Given the description of an element on the screen output the (x, y) to click on. 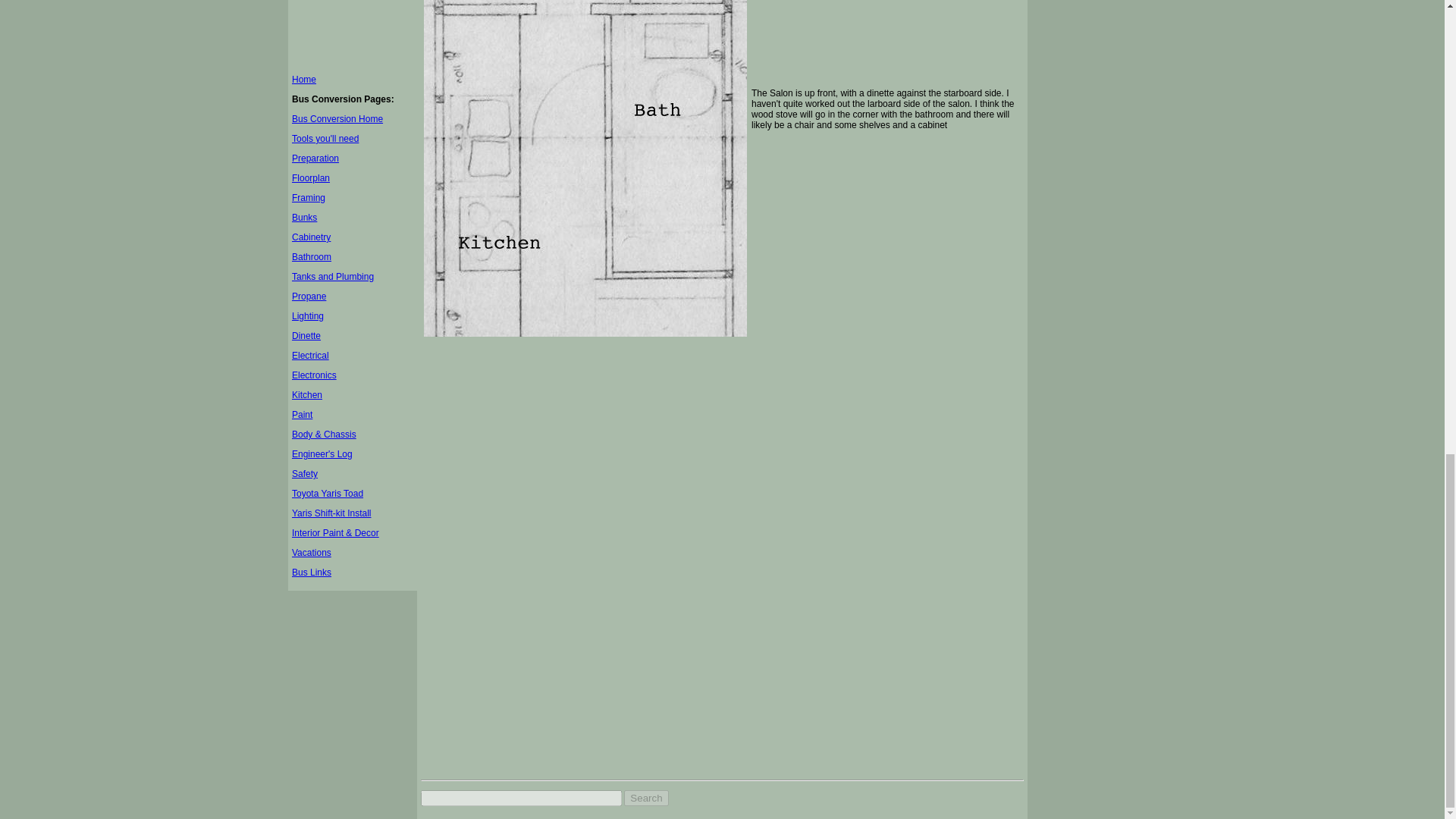
Tanks and Plumbing (333, 276)
Cabinetry (311, 236)
Search (646, 797)
Advertisement (352, 32)
Safety (304, 473)
Kitchen (306, 394)
Vacations (311, 552)
Preparation (315, 158)
Toyota Yaris Toad (327, 493)
Engineer's Log (322, 453)
Bunks (304, 217)
Tools you'll need (325, 138)
Electrical (310, 355)
Bathroom (311, 256)
Bus Links (311, 572)
